Given the description of an element on the screen output the (x, y) to click on. 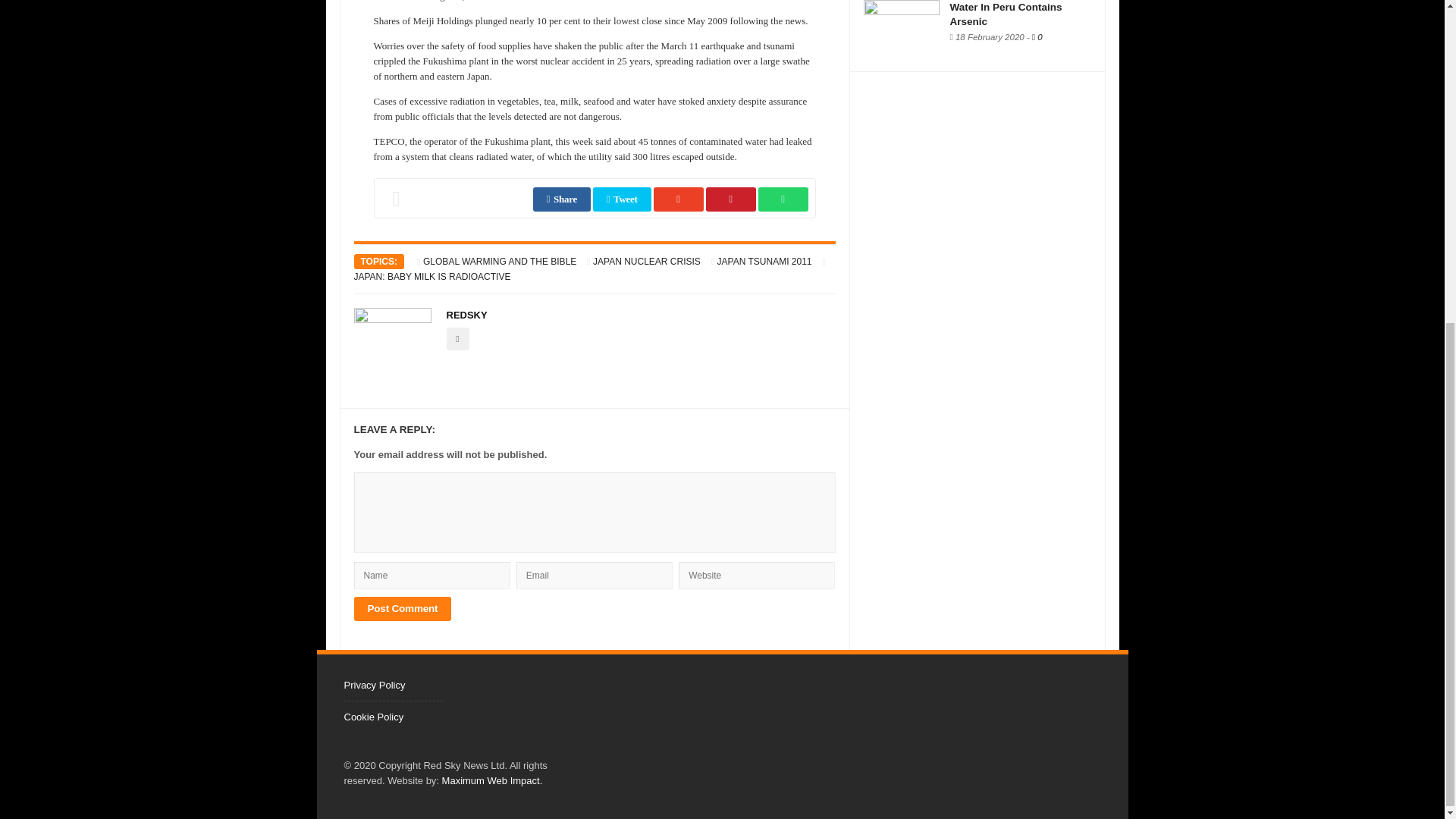
Post Comment (402, 608)
